Given the description of an element on the screen output the (x, y) to click on. 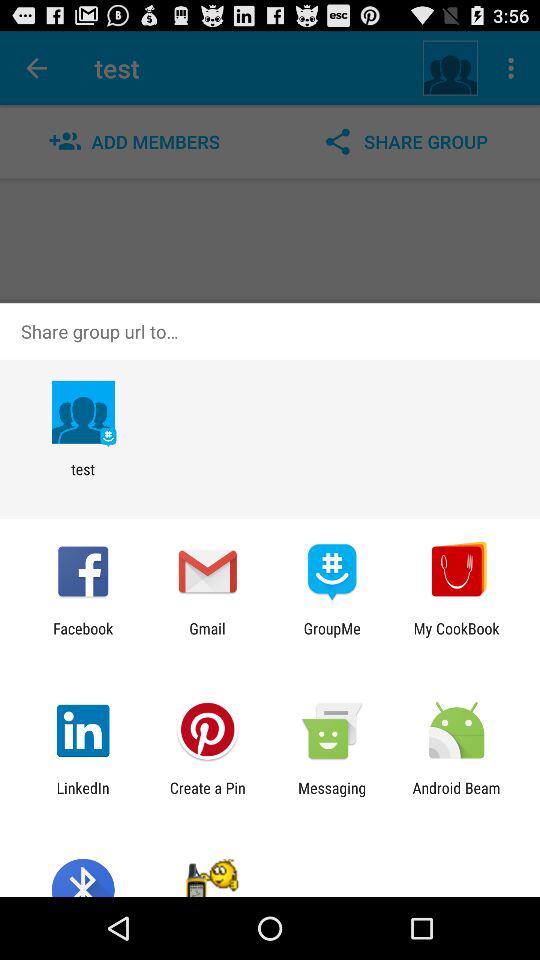
jump until gmail icon (207, 637)
